Given the description of an element on the screen output the (x, y) to click on. 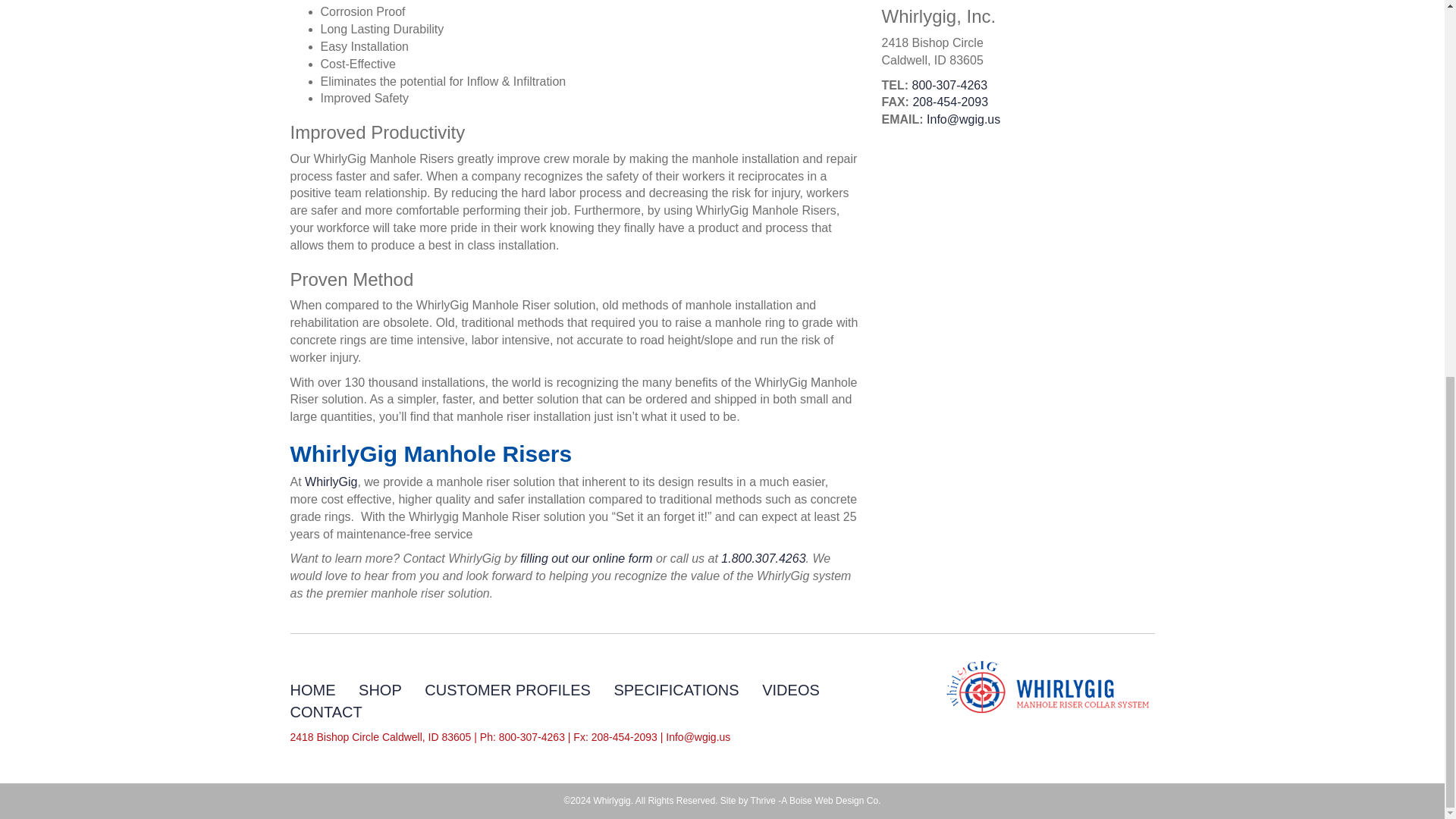
filling out our online form (585, 558)
208-454-2093 (950, 101)
1.800.307.4263 (762, 558)
HOME (311, 689)
WhirlyGig (330, 481)
800-307-4263 (949, 84)
CUSTOMER PROFILES (508, 689)
CONTACT (325, 710)
SPECIFICATIONS (675, 689)
SHOP (379, 689)
